Given the description of an element on the screen output the (x, y) to click on. 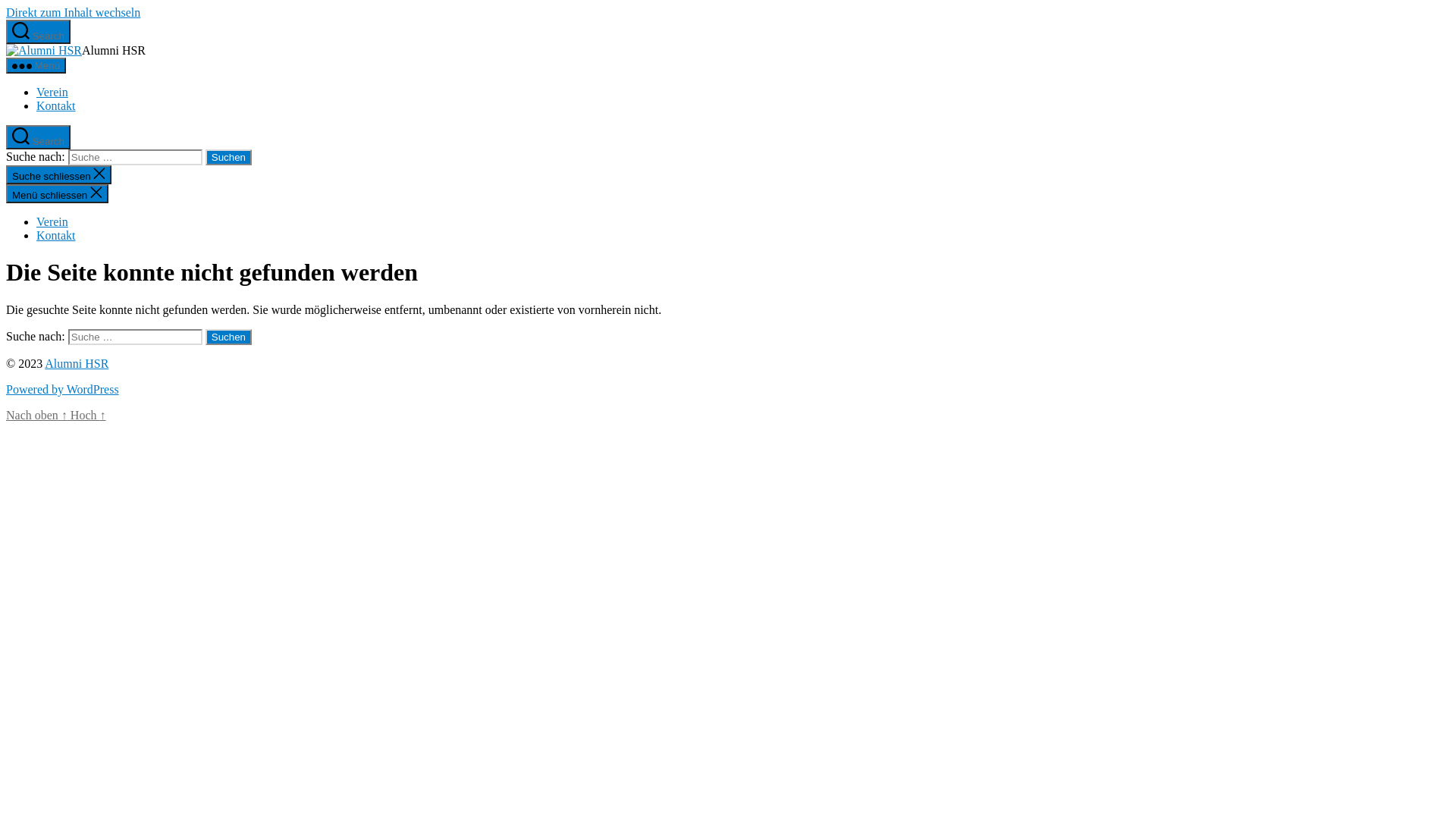
Alumni HSR Element type: text (76, 363)
Kontakt Element type: text (55, 105)
Search Element type: text (38, 137)
Powered by WordPress Element type: text (62, 388)
Direkt zum Inhalt wechseln Element type: text (73, 12)
Verein Element type: text (52, 91)
Suchen Element type: text (228, 337)
Suche schliessen Element type: text (58, 174)
Search Element type: text (38, 31)
Verein Element type: text (52, 221)
Kontakt Element type: text (55, 235)
Suchen Element type: text (228, 157)
